Given the description of an element on the screen output the (x, y) to click on. 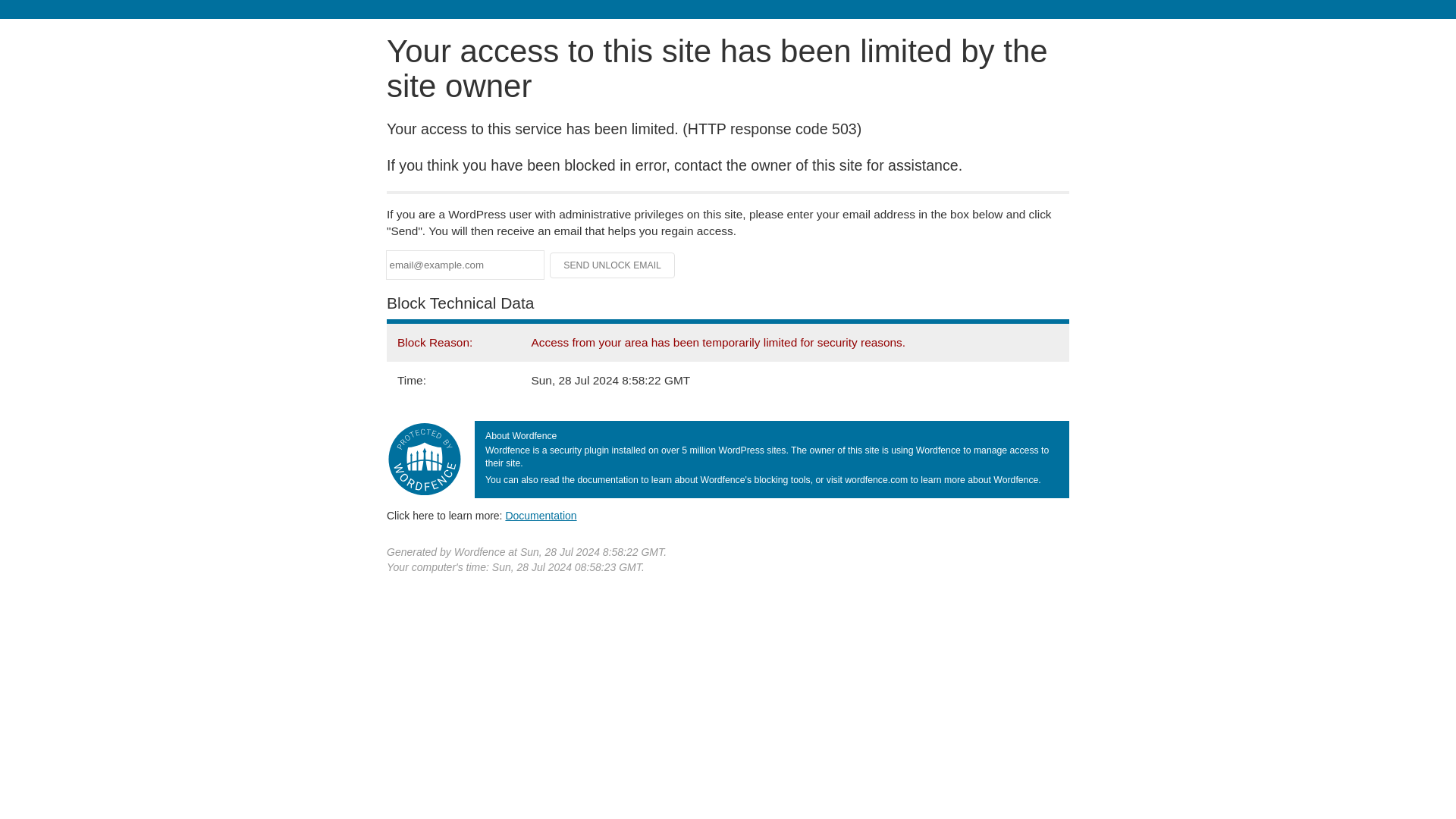
Send Unlock Email (612, 265)
Documentation (540, 515)
Send Unlock Email (612, 265)
